Given the description of an element on the screen output the (x, y) to click on. 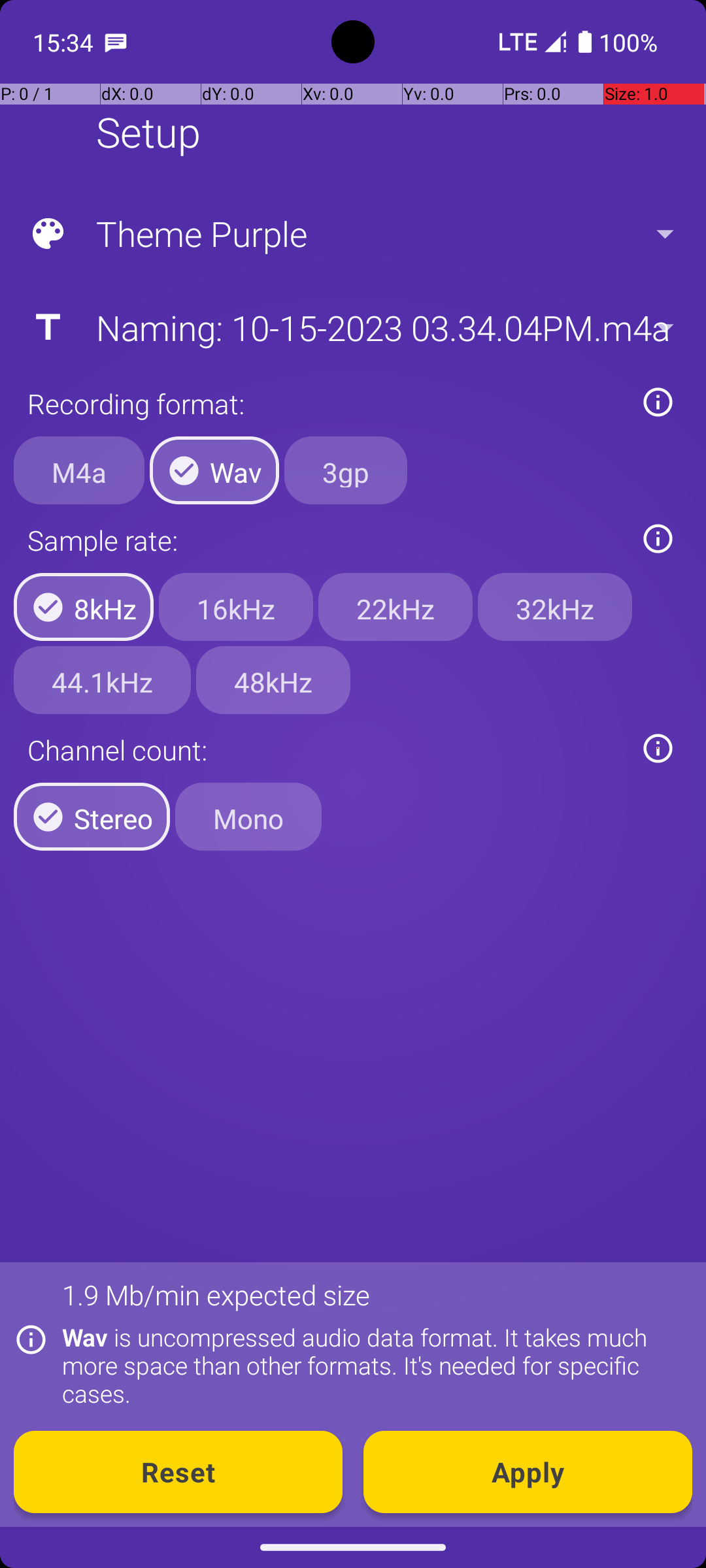
1.9 Mb/min expected size Element type: android.widget.TextView (215, 1294)
Wav is uncompressed audio data format. It takes much more space than other formats. It's needed for specific cases. Element type: android.widget.TextView (370, 1364)
Naming: 10-15-2023 03.34.04PM.m4a Element type: android.widget.TextView (352, 327)
